Given the description of an element on the screen output the (x, y) to click on. 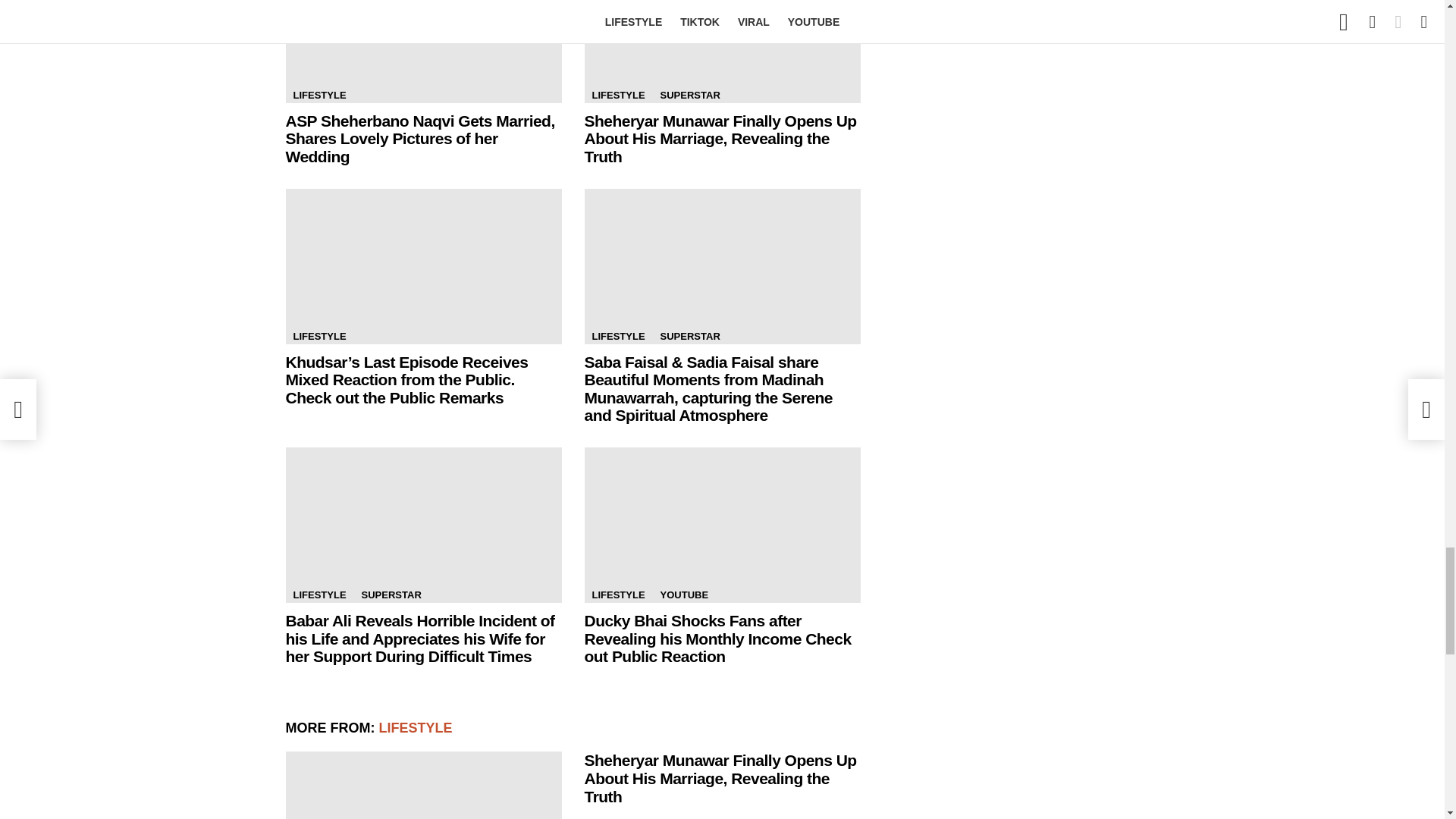
Posts by maham (644, 818)
LIFESTYLE (319, 95)
